Given the description of an element on the screen output the (x, y) to click on. 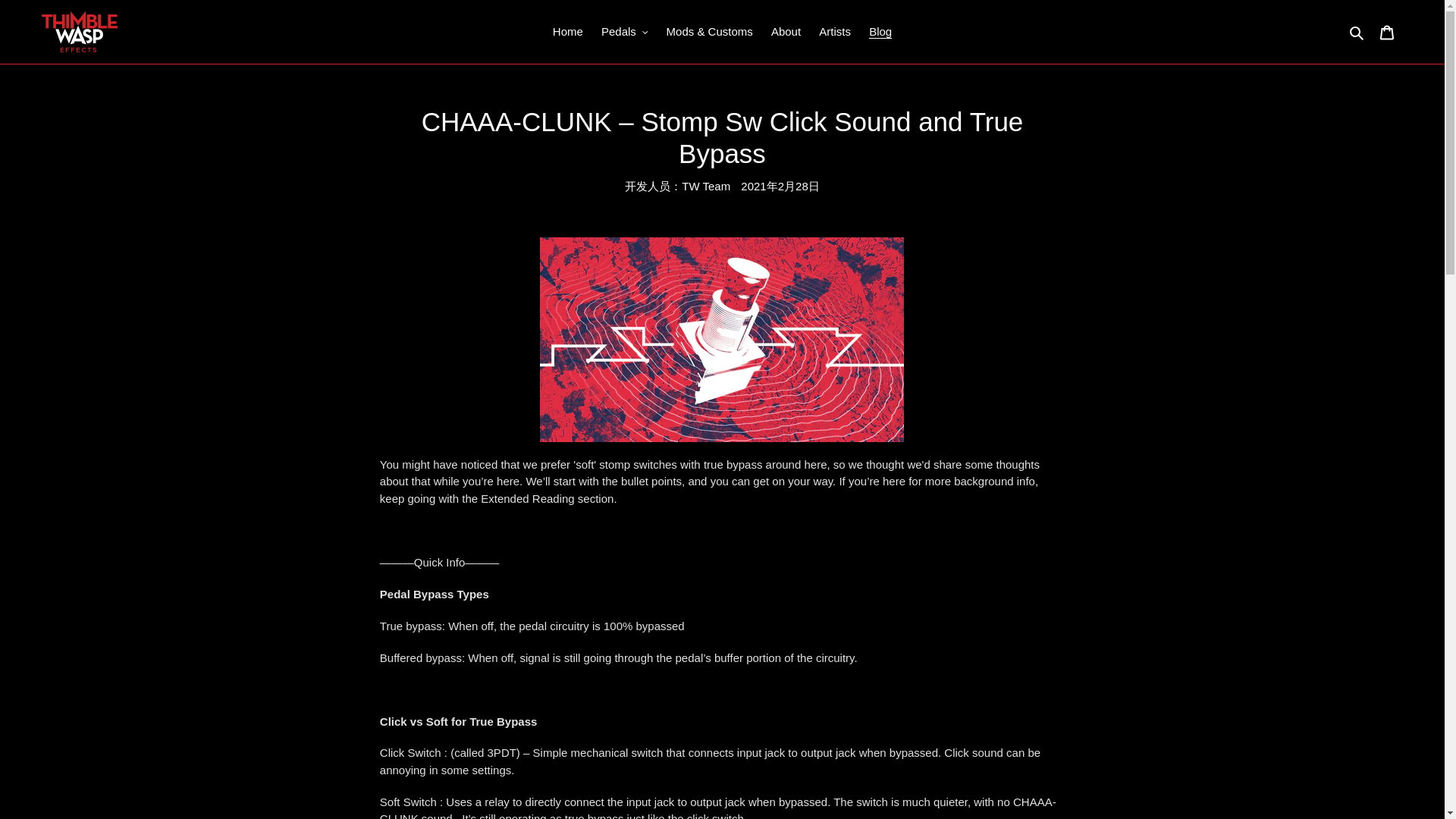
Pedals (624, 32)
Blog (880, 32)
Home (567, 32)
About (785, 32)
Artists (834, 32)
